Given the description of an element on the screen output the (x, y) to click on. 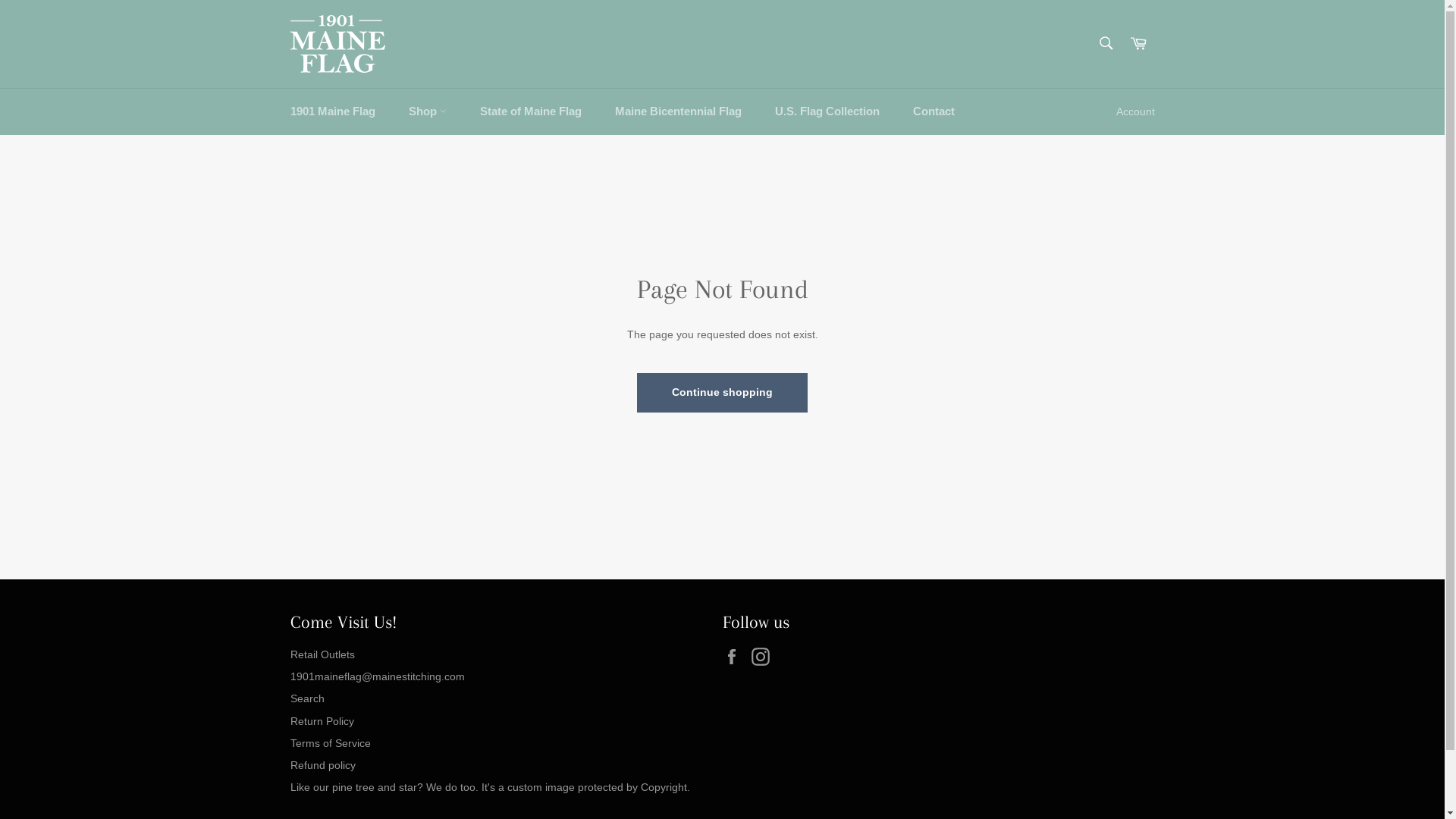
Maine Bicentennial Flag Element type: text (677, 111)
Facebook Element type: text (734, 656)
Continue shopping Element type: text (722, 392)
Contact Element type: text (933, 111)
Retail Outlets Element type: text (321, 654)
Shop Element type: text (426, 111)
Terms of Service Element type: text (329, 743)
Search Element type: text (306, 698)
Return Policy Element type: text (321, 721)
Instagram Element type: text (763, 656)
Cart Element type: text (1138, 44)
Refund policy Element type: text (321, 765)
1901maineflag@mainestitching.com Element type: text (376, 676)
Account Element type: text (1135, 111)
U.S. Flag Collection Element type: text (826, 111)
State of Maine Flag Element type: text (530, 111)
1901 Maine Flag Element type: text (331, 111)
Search Element type: text (1105, 43)
